Given the description of an element on the screen output the (x, y) to click on. 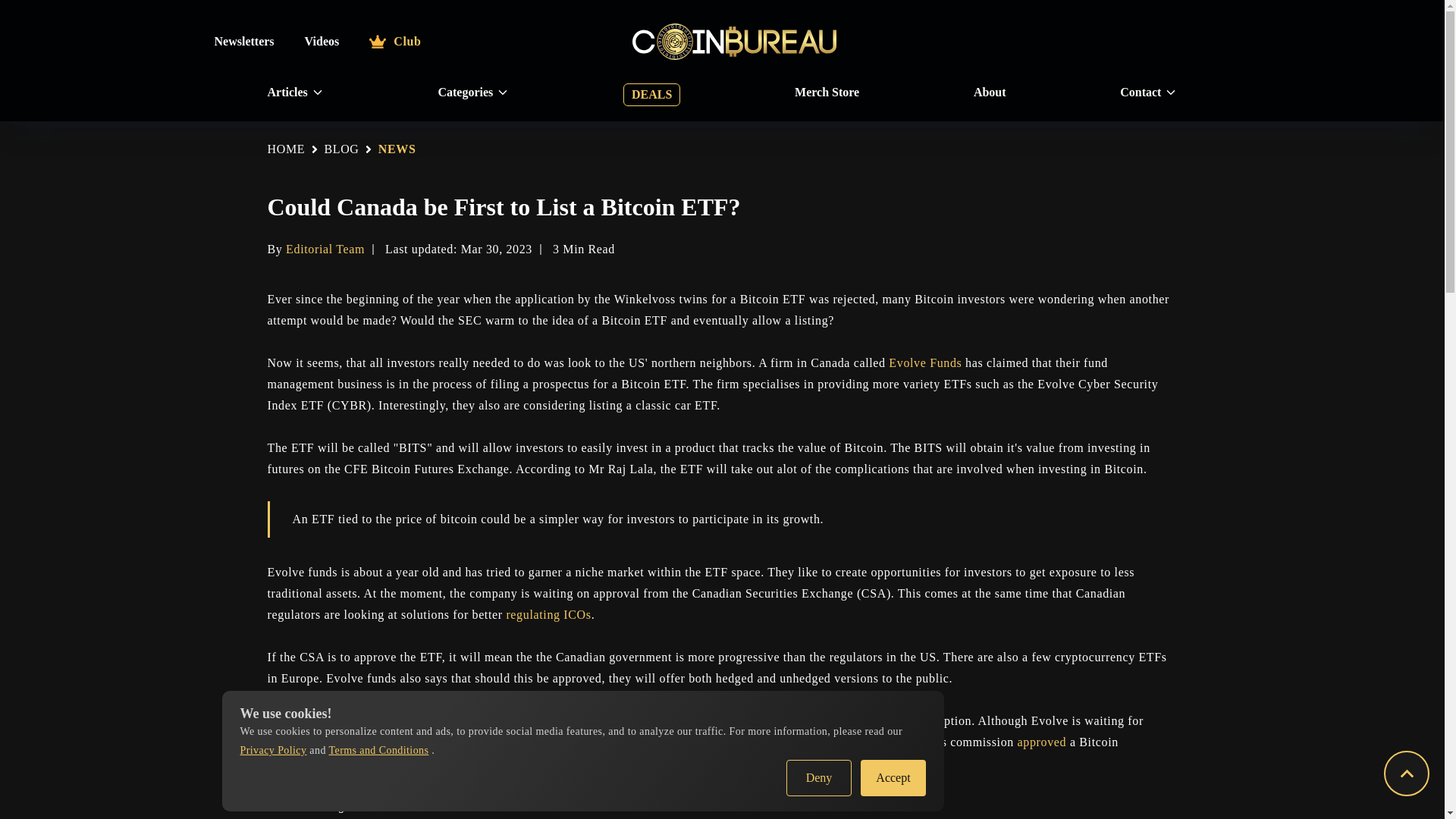
Club (394, 41)
Videos (322, 41)
Newsletters (243, 41)
Merch Store (826, 92)
About (990, 92)
DEALS (651, 94)
